Given the description of an element on the screen output the (x, y) to click on. 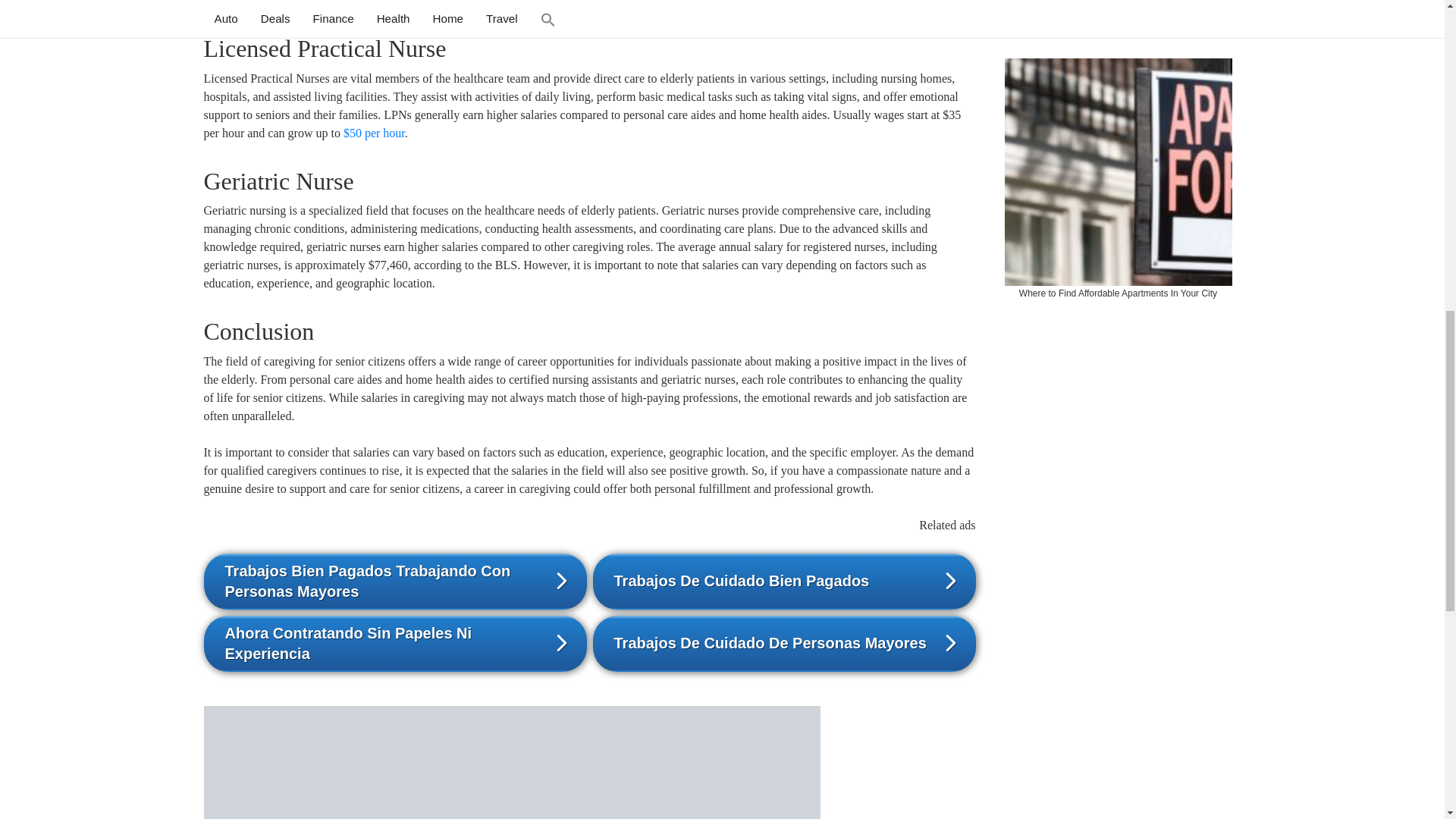
Trabajos De Cuidado Bien Pagados (783, 581)
Trabajos De Cuidado De Personas Mayores (783, 643)
Trabajos Bien Pagados Trabajando Con Personas Mayores (394, 581)
Ahora Contratando Sin Papeles Ni Experiencia (394, 643)
The Best Mattress Deals at Walmart (1117, 24)
